Given the description of an element on the screen output the (x, y) to click on. 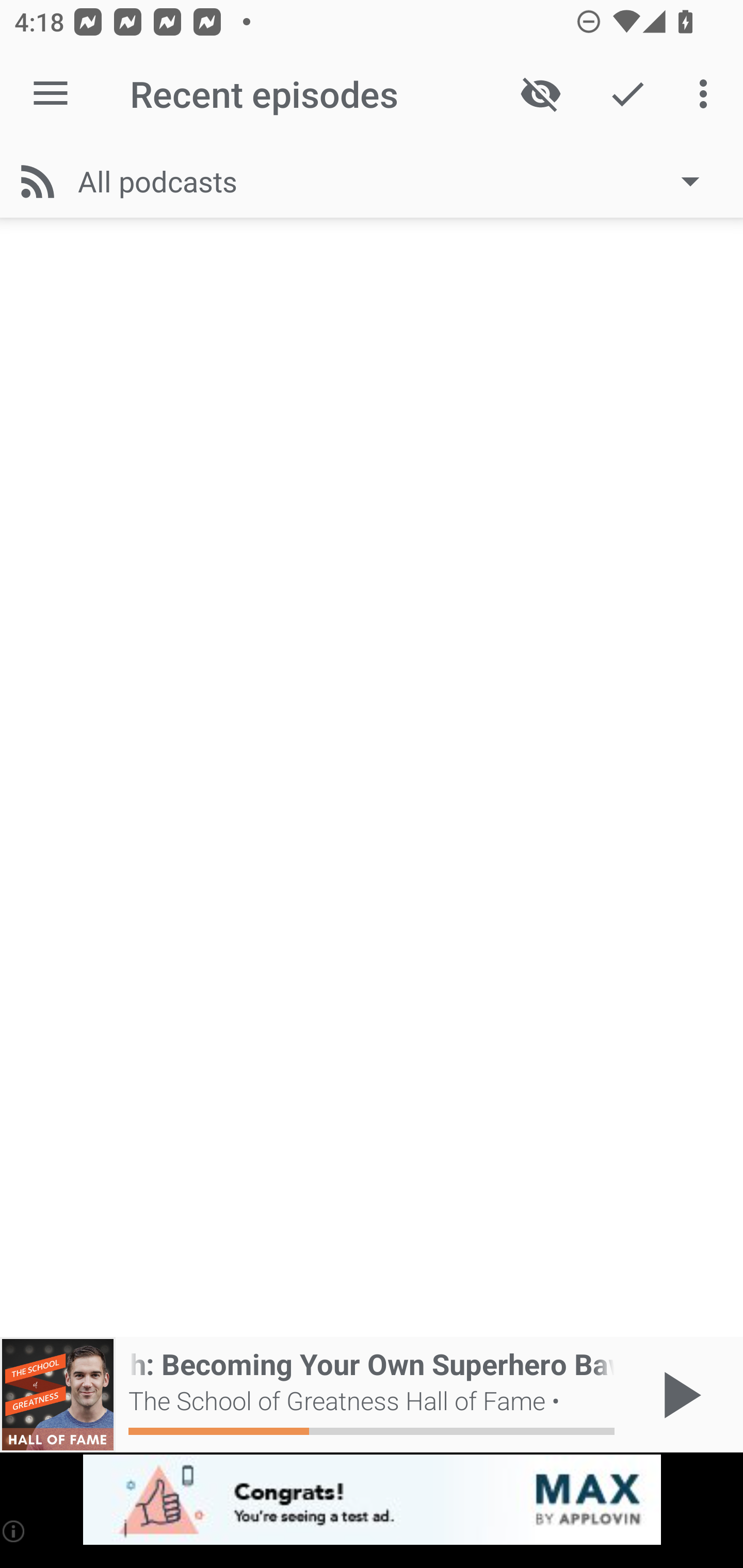
Open navigation sidebar (50, 93)
Show / Hide played content (540, 93)
Action Mode (626, 93)
More options (706, 93)
All podcasts (398, 180)
Play / Pause (677, 1394)
app-monetization (371, 1500)
(i) (14, 1531)
